Given the description of an element on the screen output the (x, y) to click on. 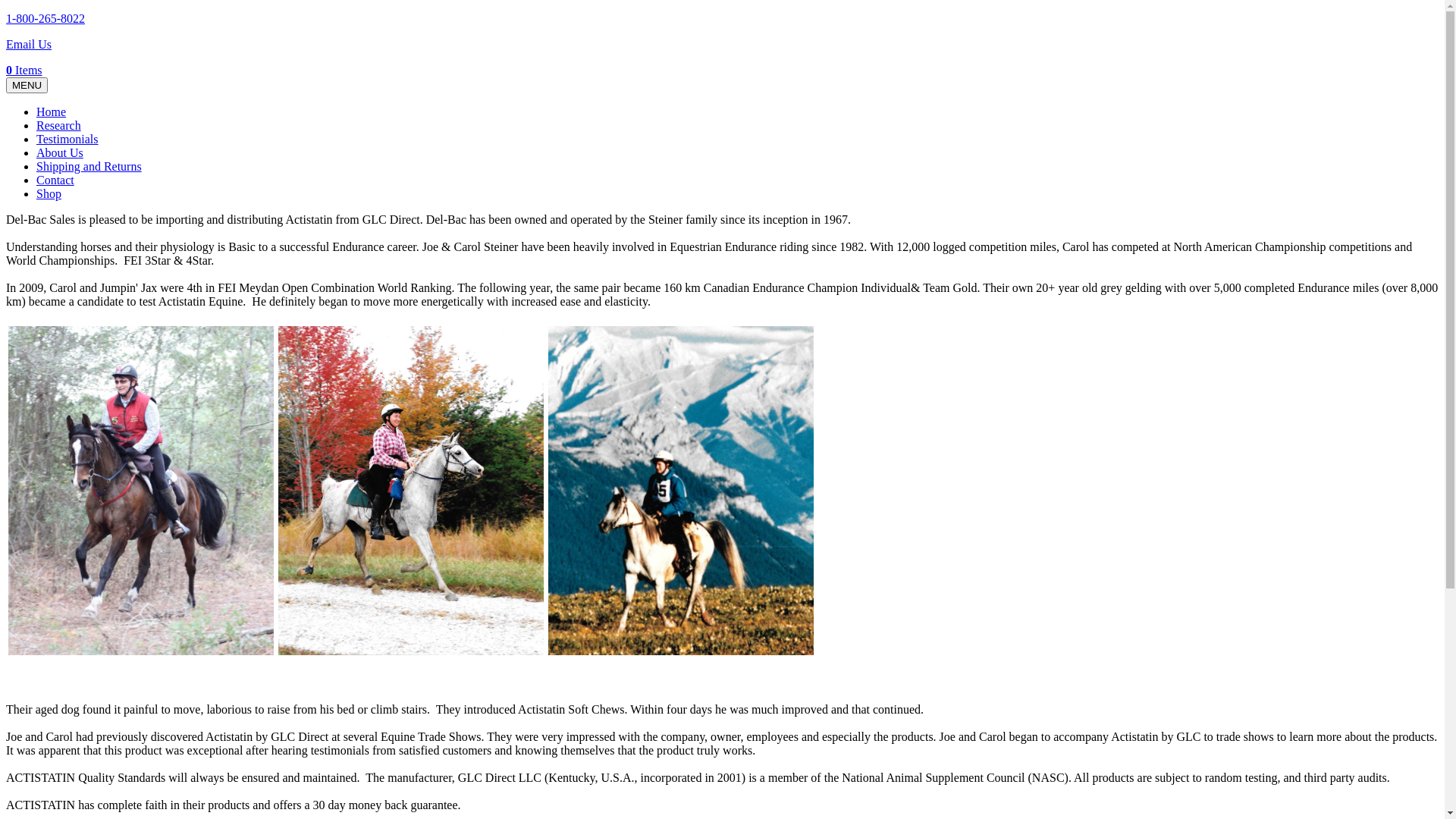
Research Element type: text (58, 125)
MENU Element type: text (26, 85)
Testimonials Element type: text (67, 138)
Email Us Element type: text (28, 43)
Shop Element type: text (48, 193)
Home Element type: text (50, 111)
1-800-265-8022 Element type: text (45, 18)
Shipping and Returns Element type: text (88, 166)
0 Items Element type: text (24, 69)
About Us Element type: text (59, 152)
Contact Element type: text (55, 179)
